Given the description of an element on the screen output the (x, y) to click on. 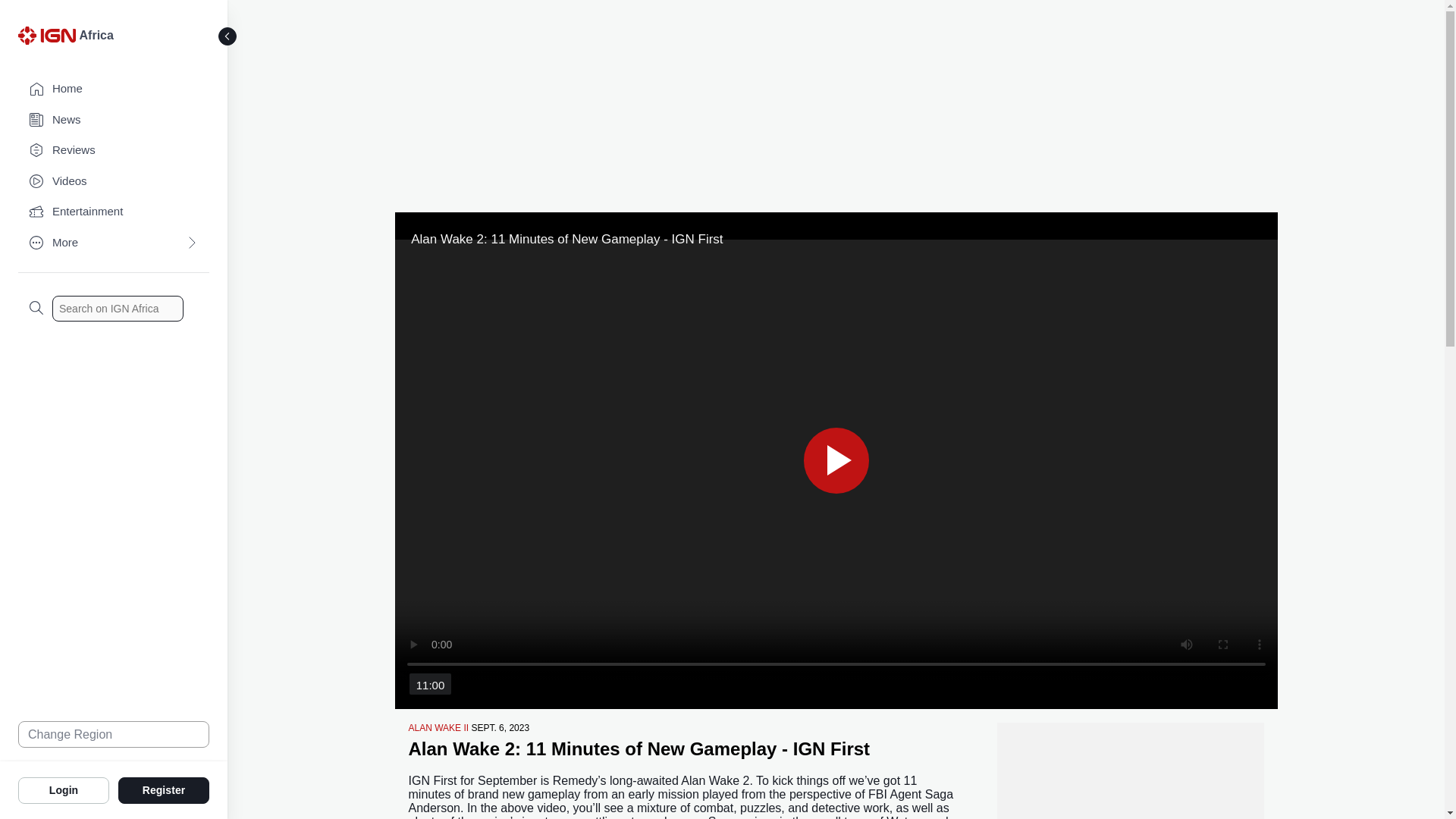
ALAN WAKE II (437, 727)
News (113, 119)
Home (113, 89)
IGN Logo (48, 39)
Reviews (113, 150)
Entertainment (113, 211)
Toggle Sidebar (226, 36)
More (113, 242)
IGN Logo (46, 34)
Register (163, 789)
